Given the description of an element on the screen output the (x, y) to click on. 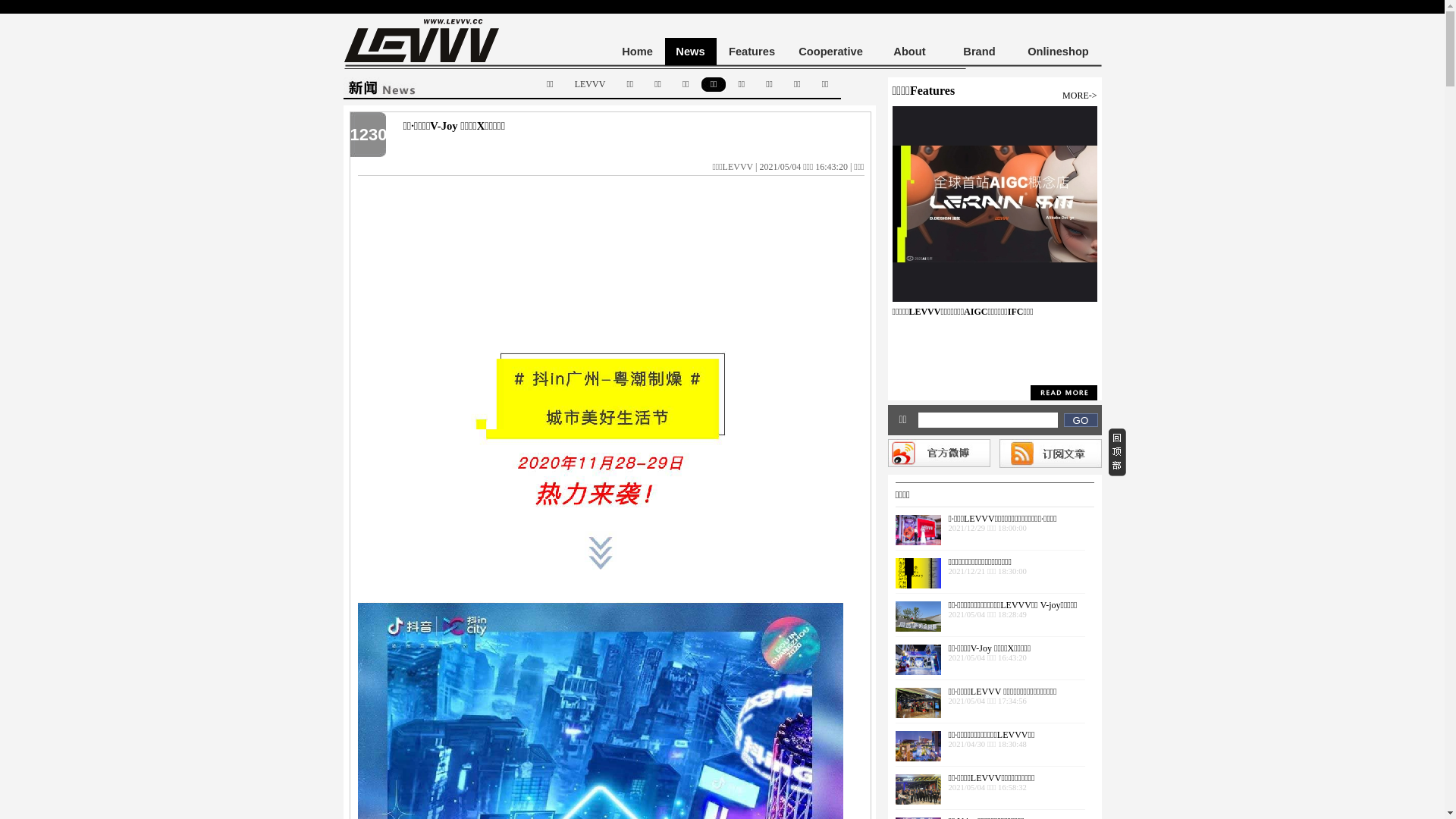
Onlineshop Element type: text (1057, 51)
 GO  Element type: text (1080, 419)
LEVVV Element type: text (589, 83)
About Element type: text (909, 51)
Home Element type: text (636, 51)
Brand Element type: text (978, 51)
MORE-> Element type: text (1079, 95)
News Element type: text (689, 51)
Features Element type: text (751, 51)
Cooperative Element type: text (830, 51)
